Given the description of an element on the screen output the (x, y) to click on. 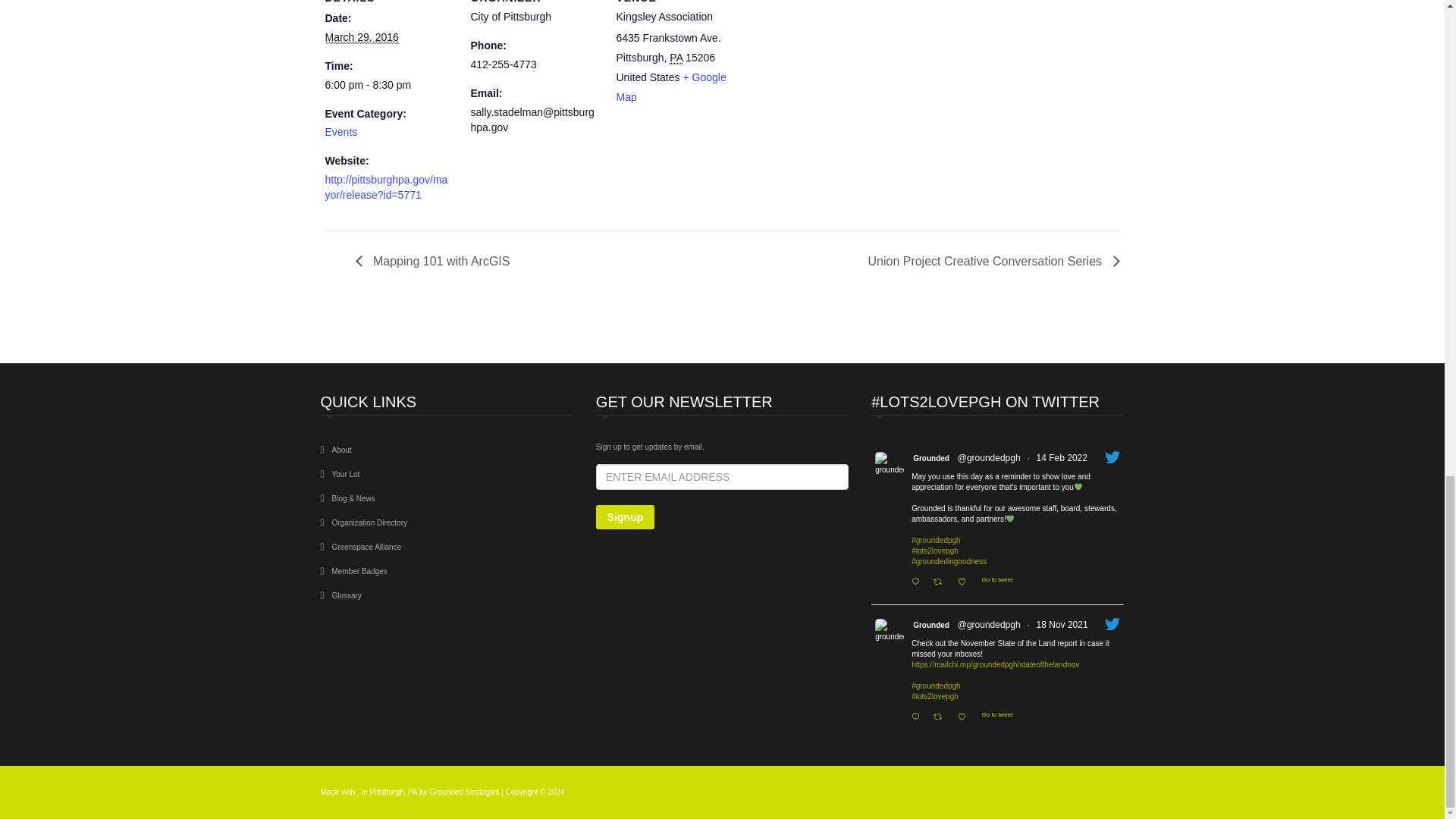
14 Feb 2022 (1061, 457)
Your Lot (345, 474)
Signup (624, 517)
Signup (624, 517)
Mapping 101 with ArcGIS (436, 260)
Organization Directory (369, 522)
Glossary (346, 595)
Greenspace Alliance (366, 546)
About (341, 449)
Click to view a Google Map (670, 87)
Member Badges (359, 571)
Events (340, 132)
Grounded (930, 458)
Union Project Creative Conversation Series (989, 260)
2016-03-29 (387, 85)
